Given the description of an element on the screen output the (x, y) to click on. 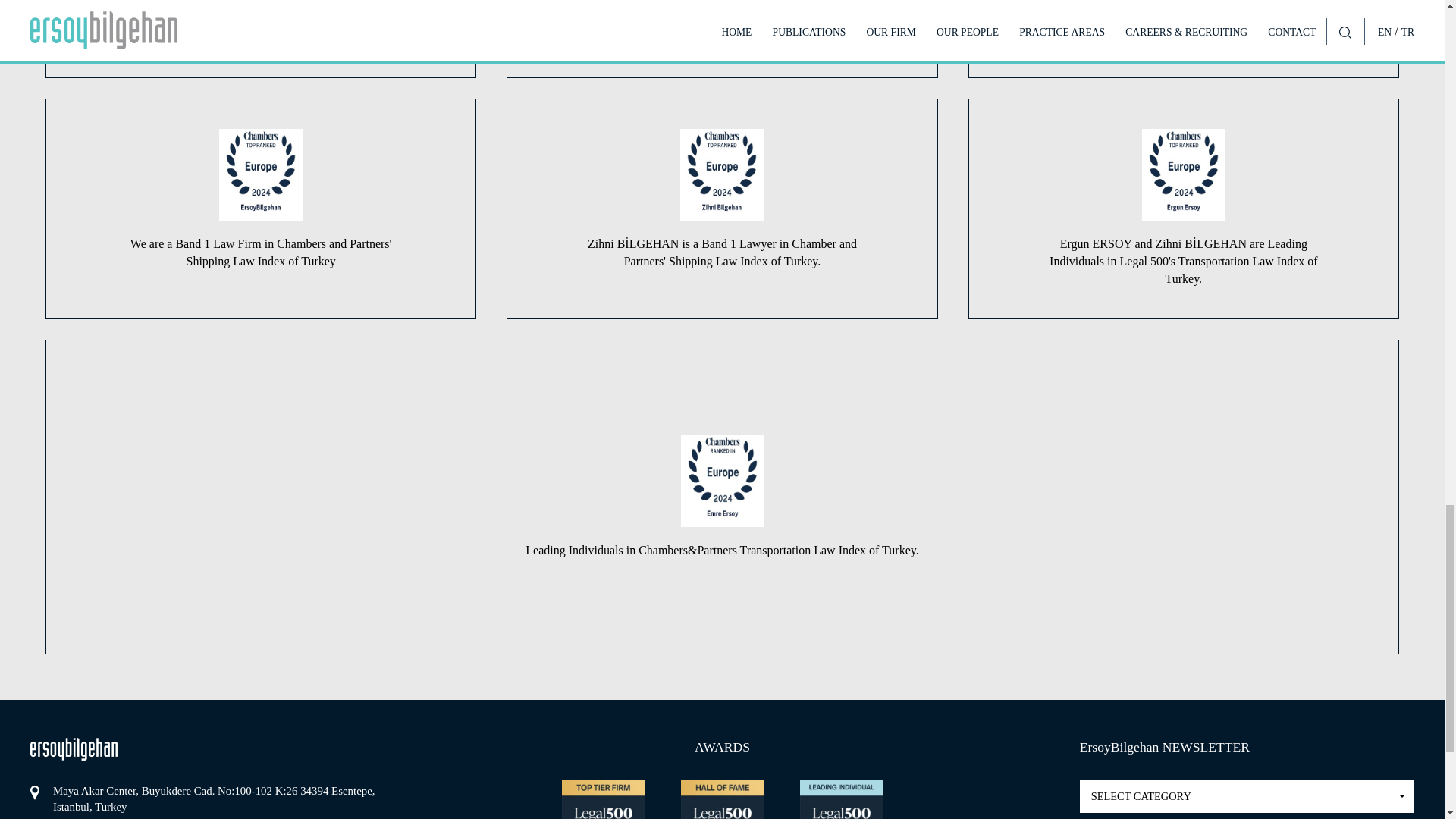
SELECT CATEGORY (1246, 796)
